Given the description of an element on the screen output the (x, y) to click on. 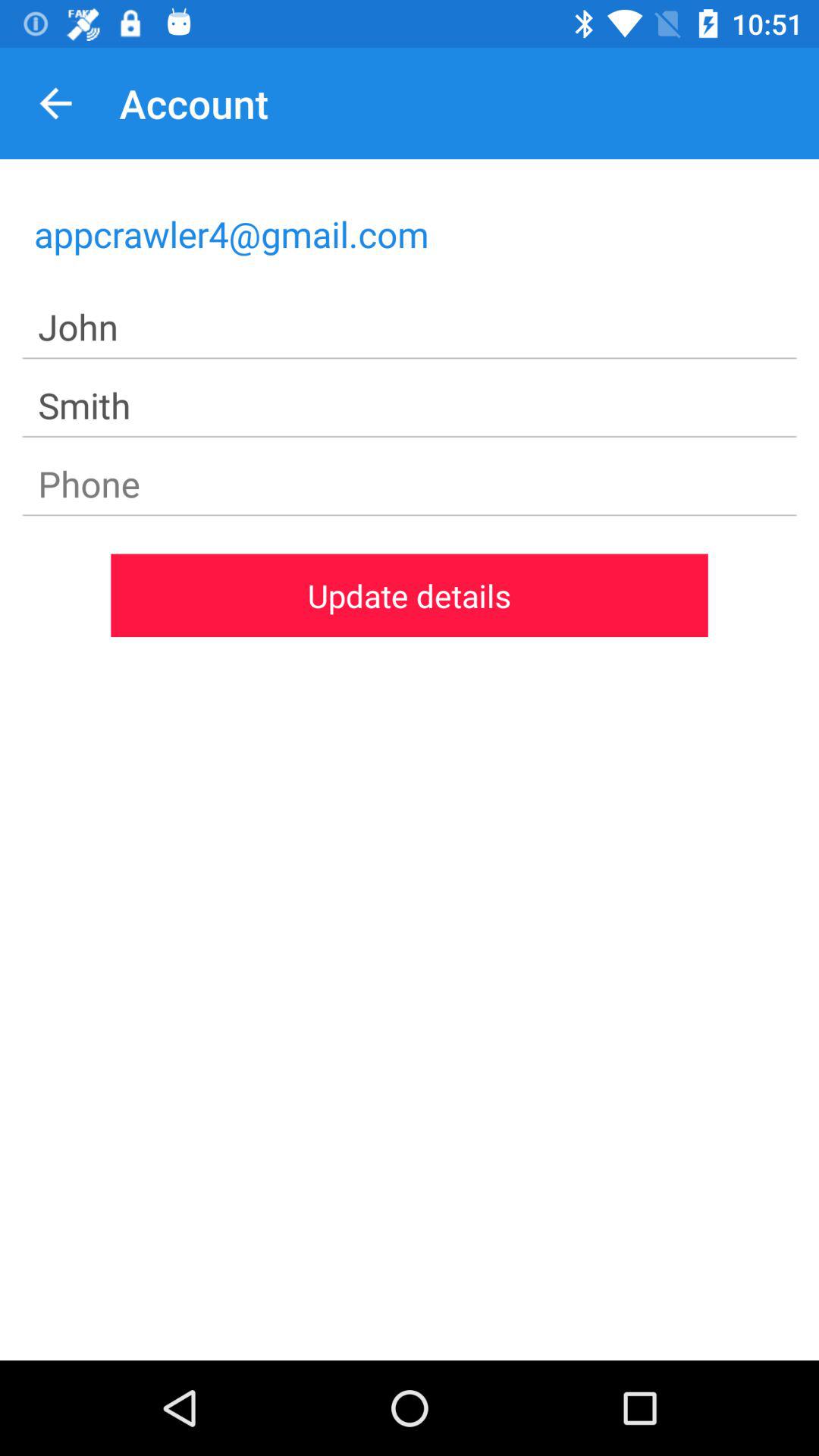
open the item to the left of the account item (55, 103)
